Given the description of an element on the screen output the (x, y) to click on. 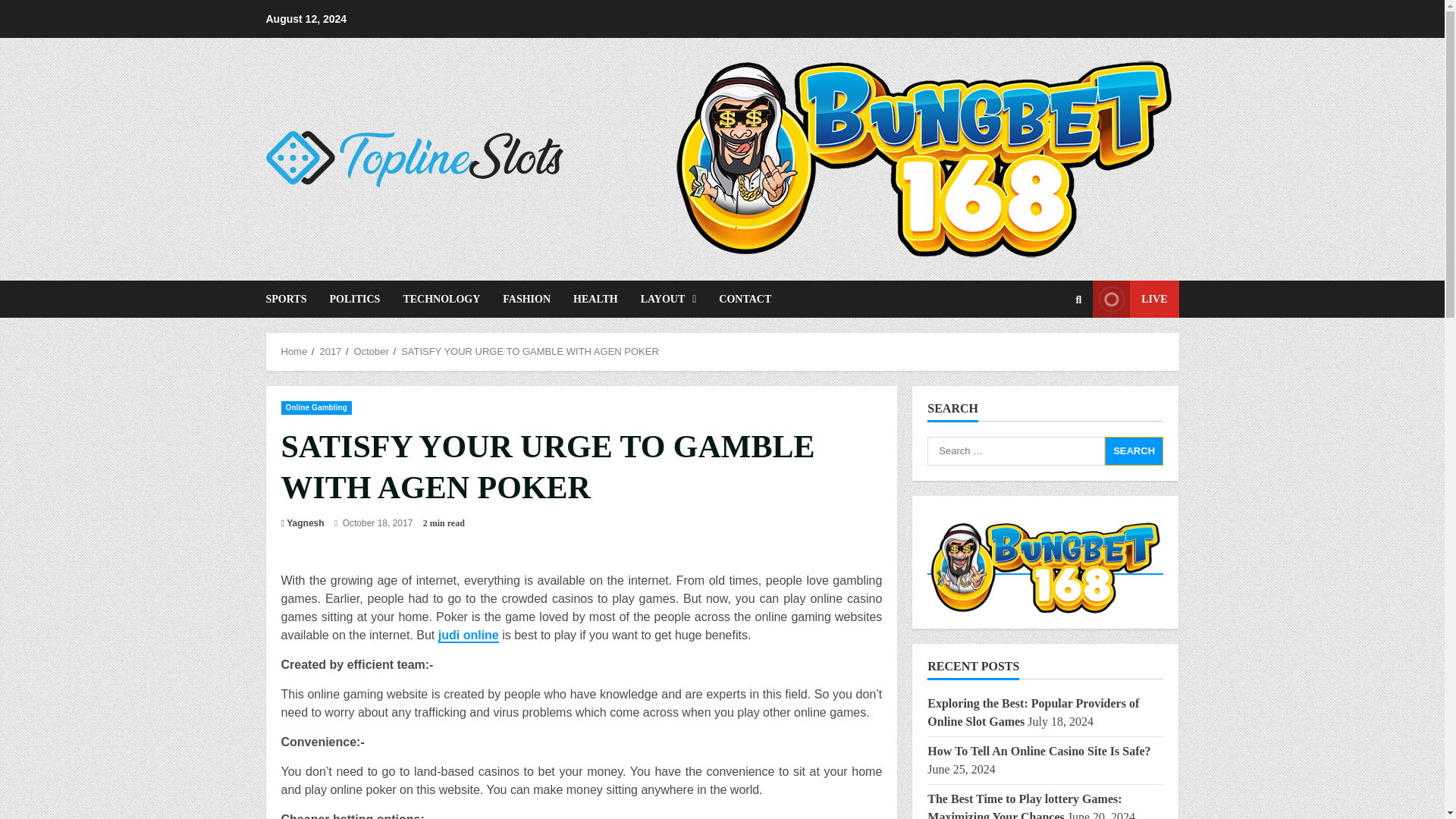
TECHNOLOGY (441, 298)
SPORTS (290, 298)
October (370, 351)
HEALTH (595, 298)
CONTACT (739, 298)
LIVE (1135, 298)
FASHION (527, 298)
POLITICS (354, 298)
Yagnesh (304, 522)
2017 (329, 351)
